Given the description of an element on the screen output the (x, y) to click on. 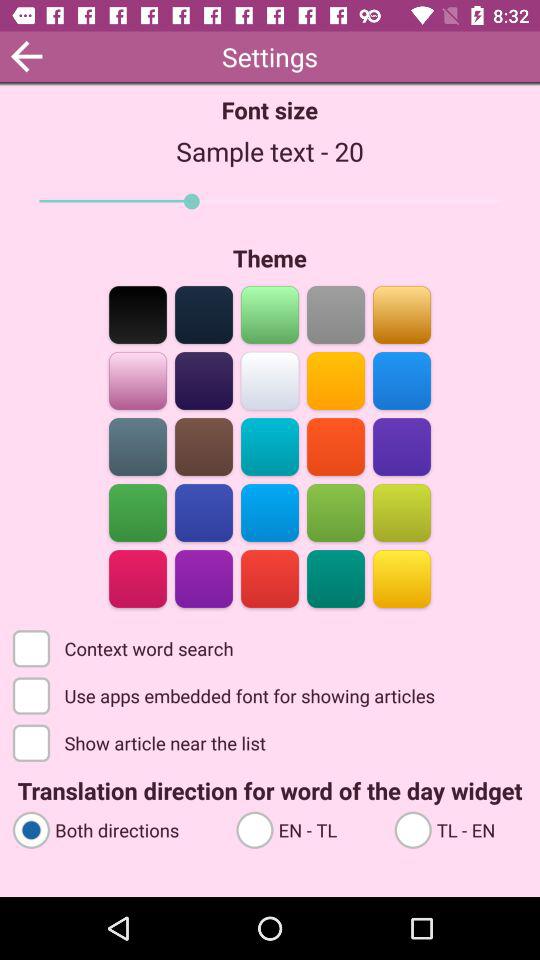
launch the show article near checkbox (141, 741)
